Given the description of an element on the screen output the (x, y) to click on. 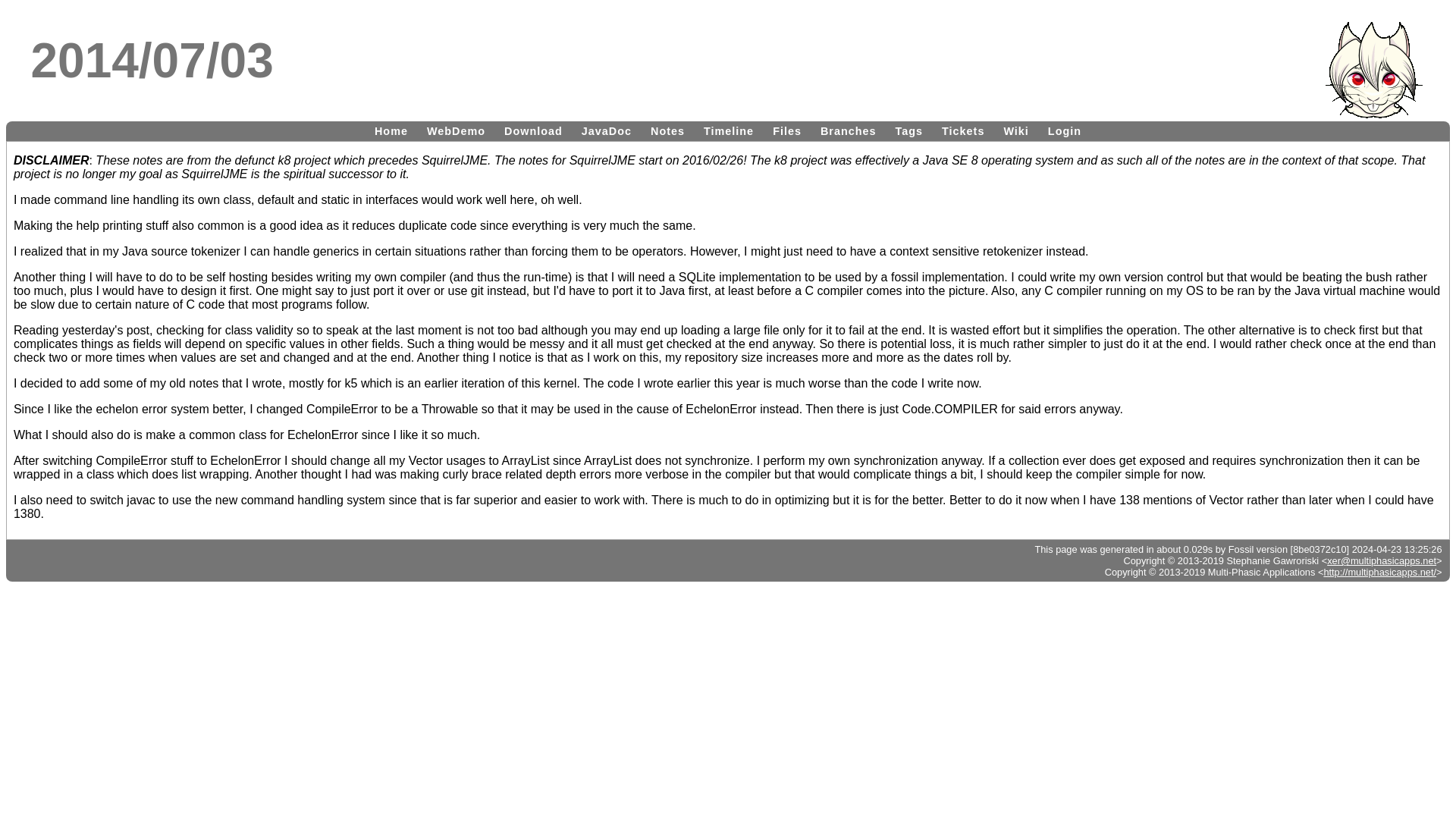
Wiki (1015, 130)
Download (533, 130)
Files (787, 130)
Notes (668, 130)
Timeline (728, 130)
WebDemo (456, 130)
Login (1065, 130)
Tags (909, 130)
Branches (847, 130)
Tickets (962, 130)
JavaDoc (606, 130)
Lex the SquirrelJME mascot! (1373, 69)
Home (390, 130)
